Given the description of an element on the screen output the (x, y) to click on. 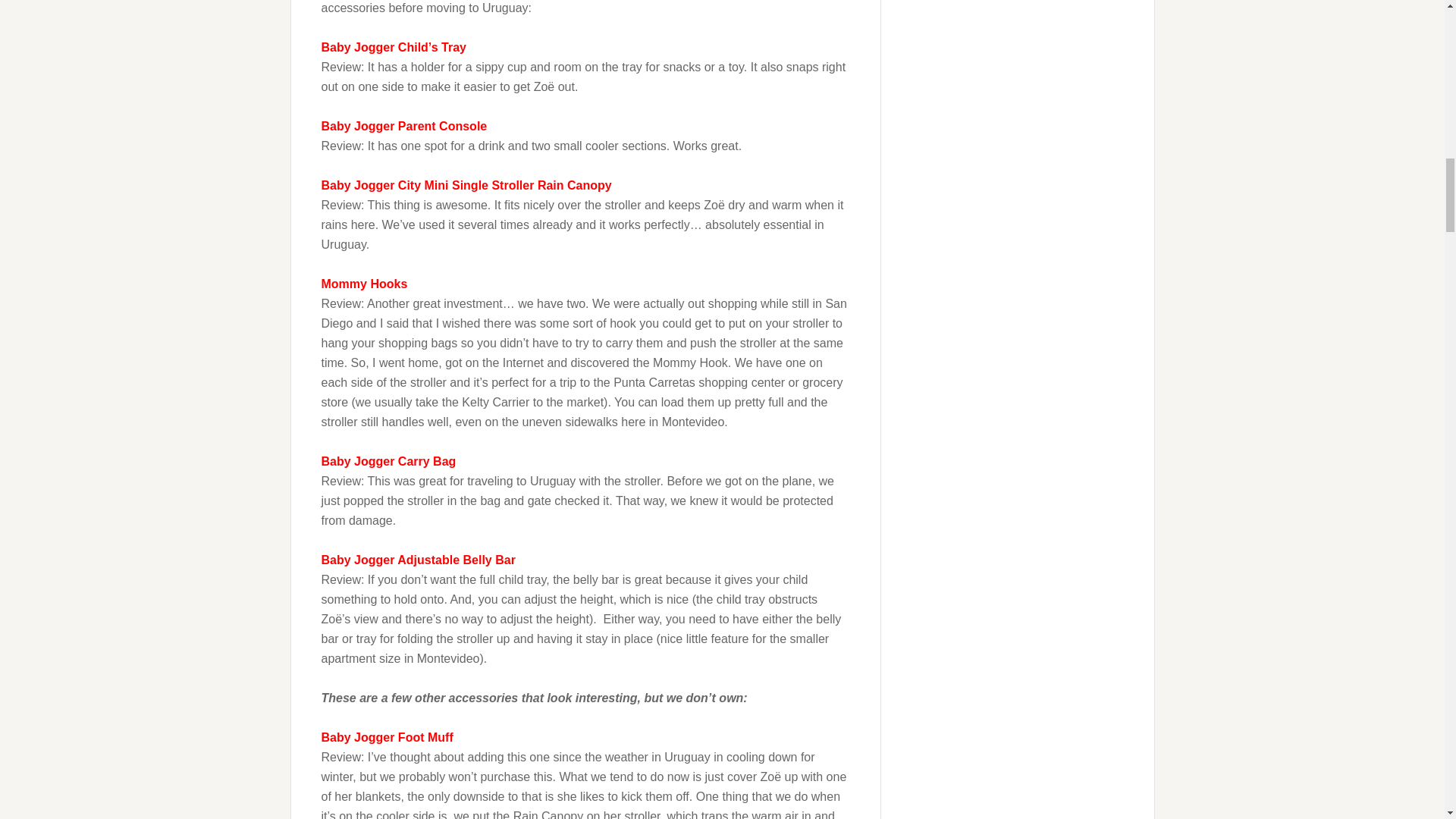
Baby Jogger Child's Tray (393, 47)
Baby Jogger Foot Muff  (386, 737)
Baby Jogger Carry Bag (389, 461)
Baby Jogger Parent Console (404, 125)
Baby Jogger Adjustable Belly Bar (418, 559)
Baby Jogger City Mini Single Stroller Rain Canopy (466, 185)
Mommy Hooks (364, 283)
